Given the description of an element on the screen output the (x, y) to click on. 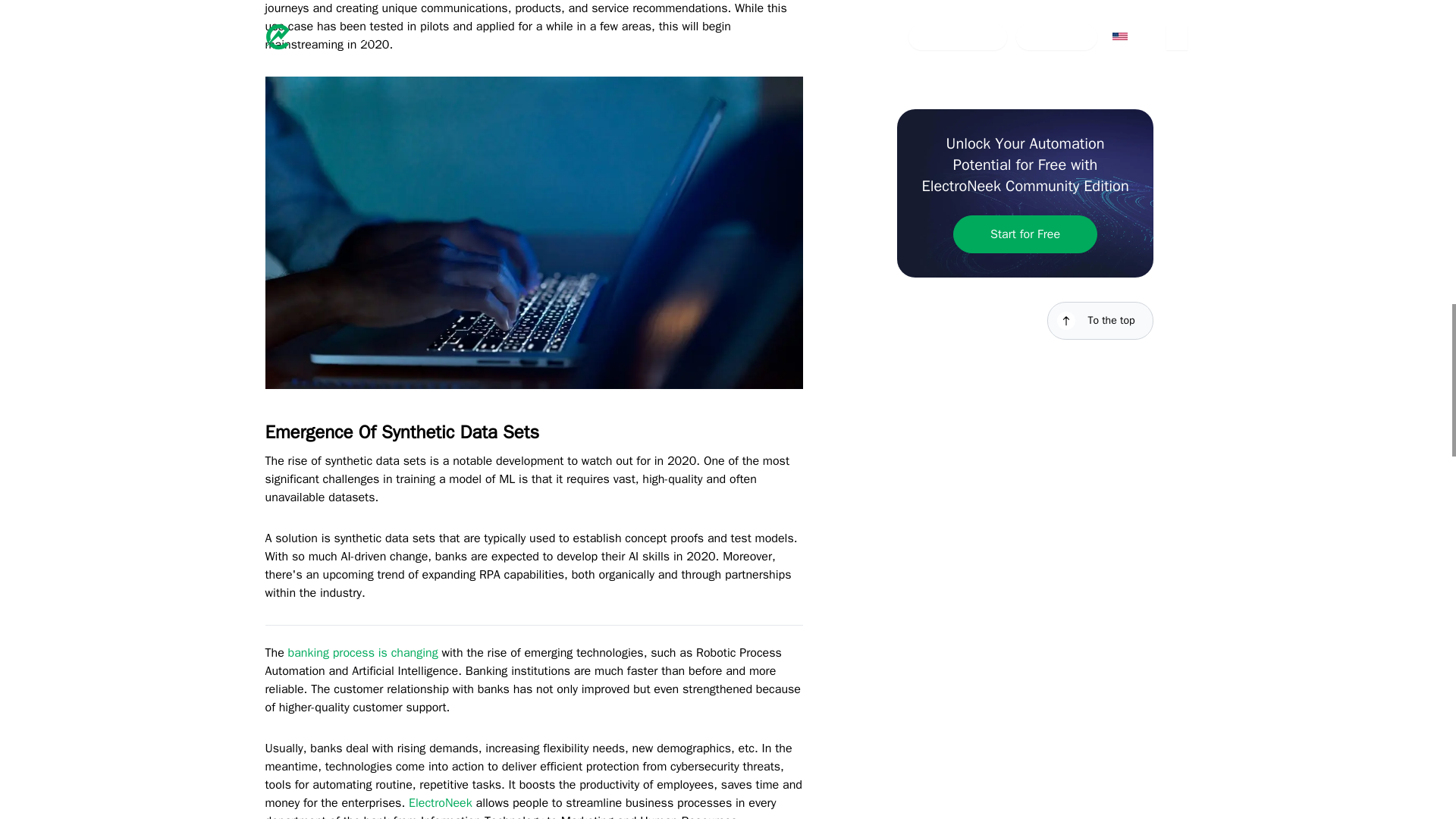
banking process is changing (363, 652)
ElectroNeek (440, 802)
